Given the description of an element on the screen output the (x, y) to click on. 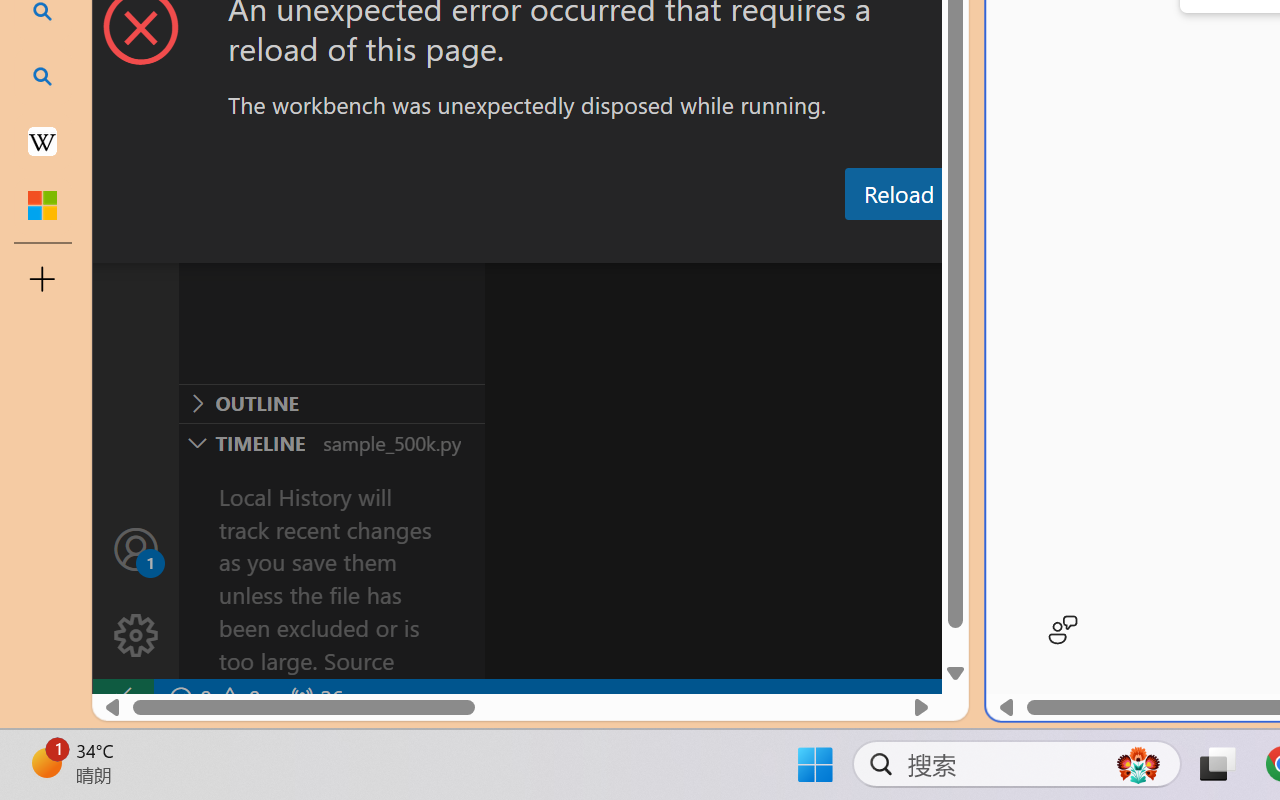
Manage (135, 635)
Earth - Wikipedia (42, 140)
Debug Console (Ctrl+Shift+Y) (854, 243)
Terminal (Ctrl+`) (1021, 243)
Timeline Section (331, 442)
Accounts - Sign in requested (135, 548)
Output (Ctrl+Shift+U) (696, 243)
